Given the description of an element on the screen output the (x, y) to click on. 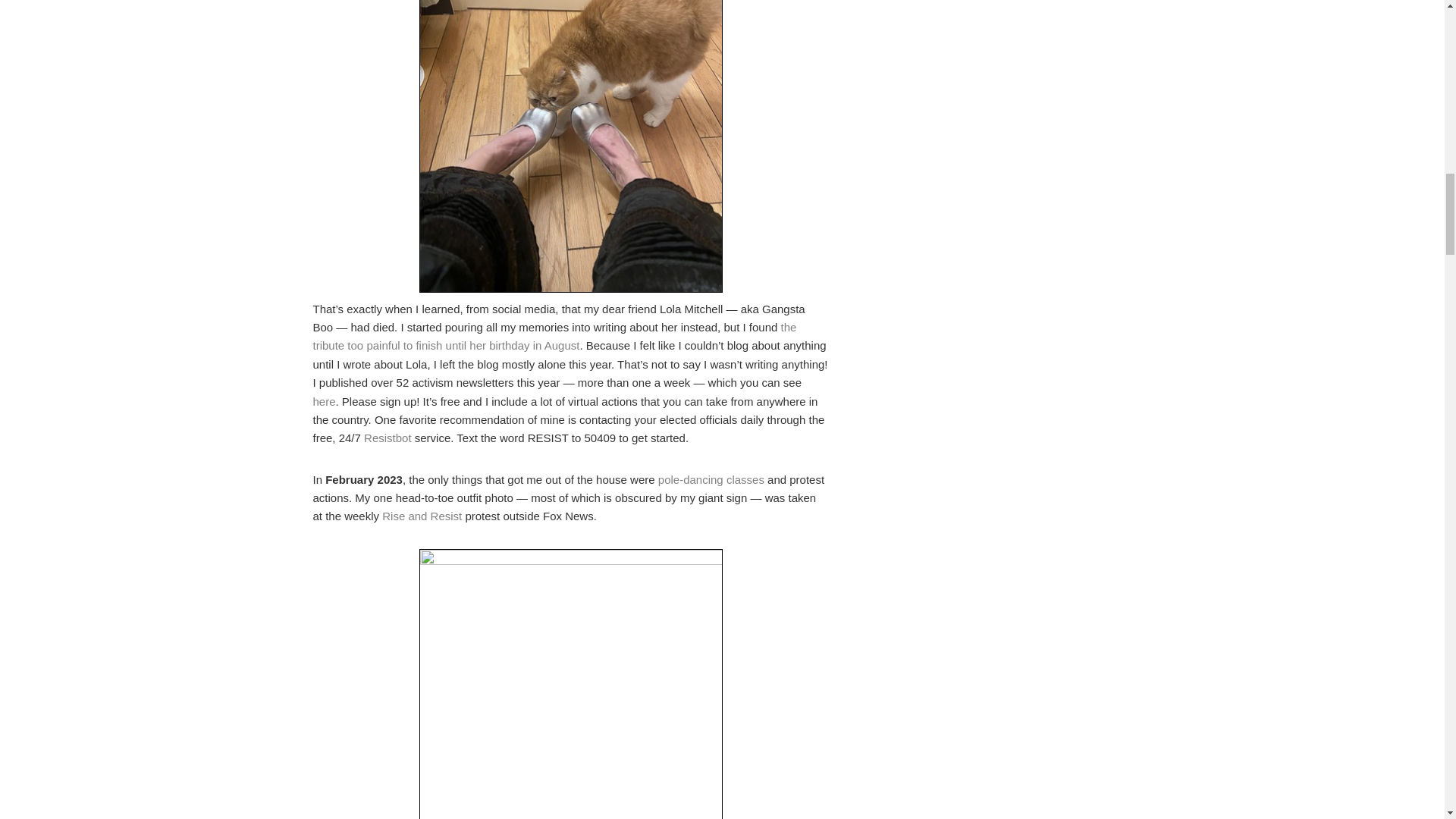
Resistbot (389, 437)
pole-dancing classes (711, 479)
here (323, 400)
Rise and Resist (421, 515)
